Given the description of an element on the screen output the (x, y) to click on. 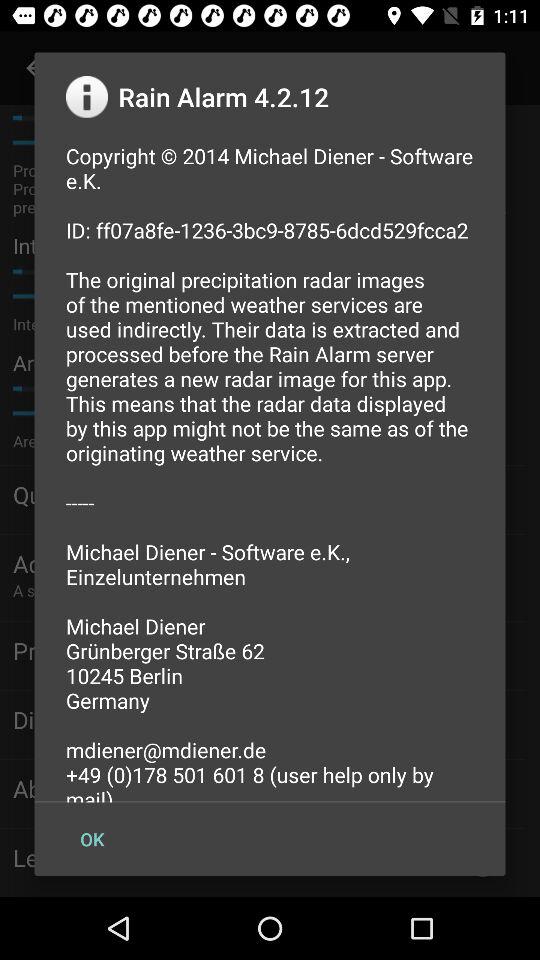
tap ok at the bottom left corner (92, 838)
